Given the description of an element on the screen output the (x, y) to click on. 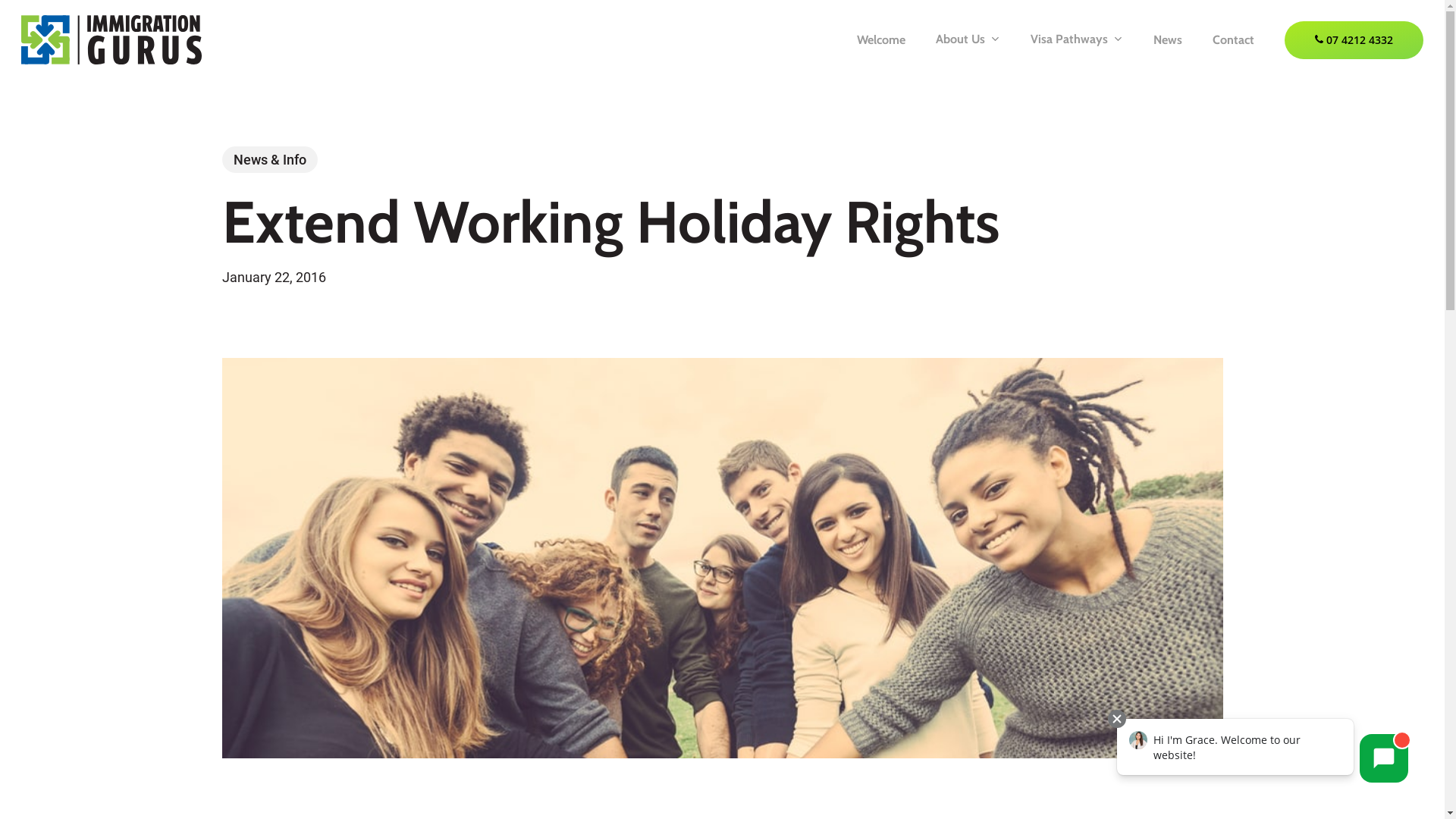
Contact Element type: text (1233, 39)
News Element type: text (1167, 39)
Visa Pathways Element type: text (1076, 39)
07 4212 4332 Element type: text (1353, 39)
About Us Element type: text (967, 39)
Welcome Element type: text (880, 39)
Chatbot Element type: hover (1262, 751)
News & Info Element type: text (268, 159)
